Given the description of an element on the screen output the (x, y) to click on. 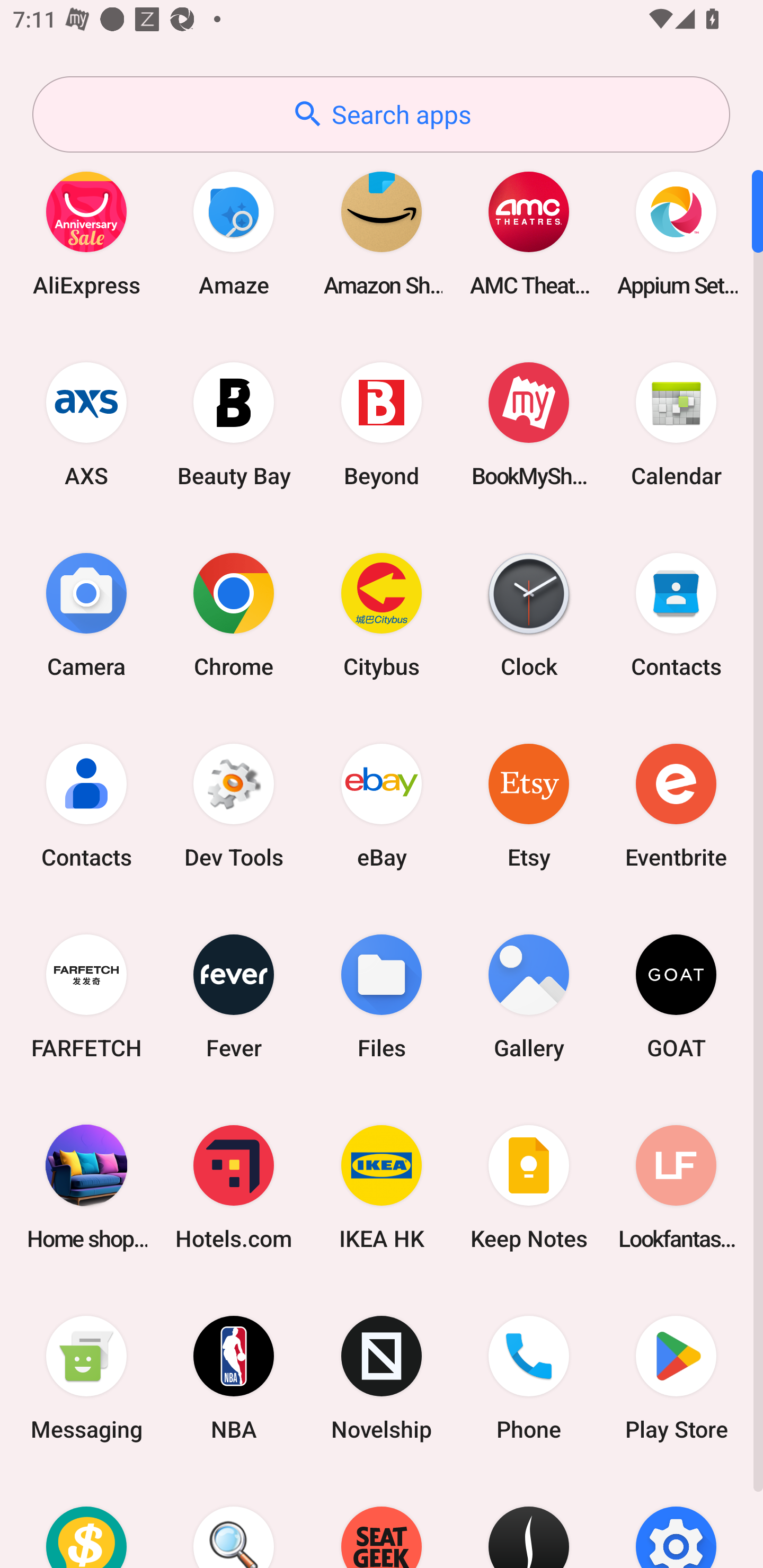
  Search apps (381, 114)
AliExpress (86, 233)
Amaze (233, 233)
Amazon Shopping (381, 233)
AMC Theatres (528, 233)
Appium Settings (676, 233)
AXS (86, 424)
Beauty Bay (233, 424)
Beyond (381, 424)
BookMyShow (528, 424)
Calendar (676, 424)
Camera (86, 614)
Chrome (233, 614)
Citybus (381, 614)
Clock (528, 614)
Contacts (676, 614)
Contacts (86, 805)
Dev Tools (233, 805)
eBay (381, 805)
Etsy (528, 805)
Eventbrite (676, 805)
FARFETCH (86, 996)
Fever (233, 996)
Files (381, 996)
Gallery (528, 996)
GOAT (676, 996)
Home shopping (86, 1186)
Hotels.com (233, 1186)
IKEA HK (381, 1186)
Keep Notes (528, 1186)
Lookfantastic (676, 1186)
Messaging (86, 1377)
NBA (233, 1377)
Novelship (381, 1377)
Phone (528, 1377)
Play Store (676, 1377)
